Given the description of an element on the screen output the (x, y) to click on. 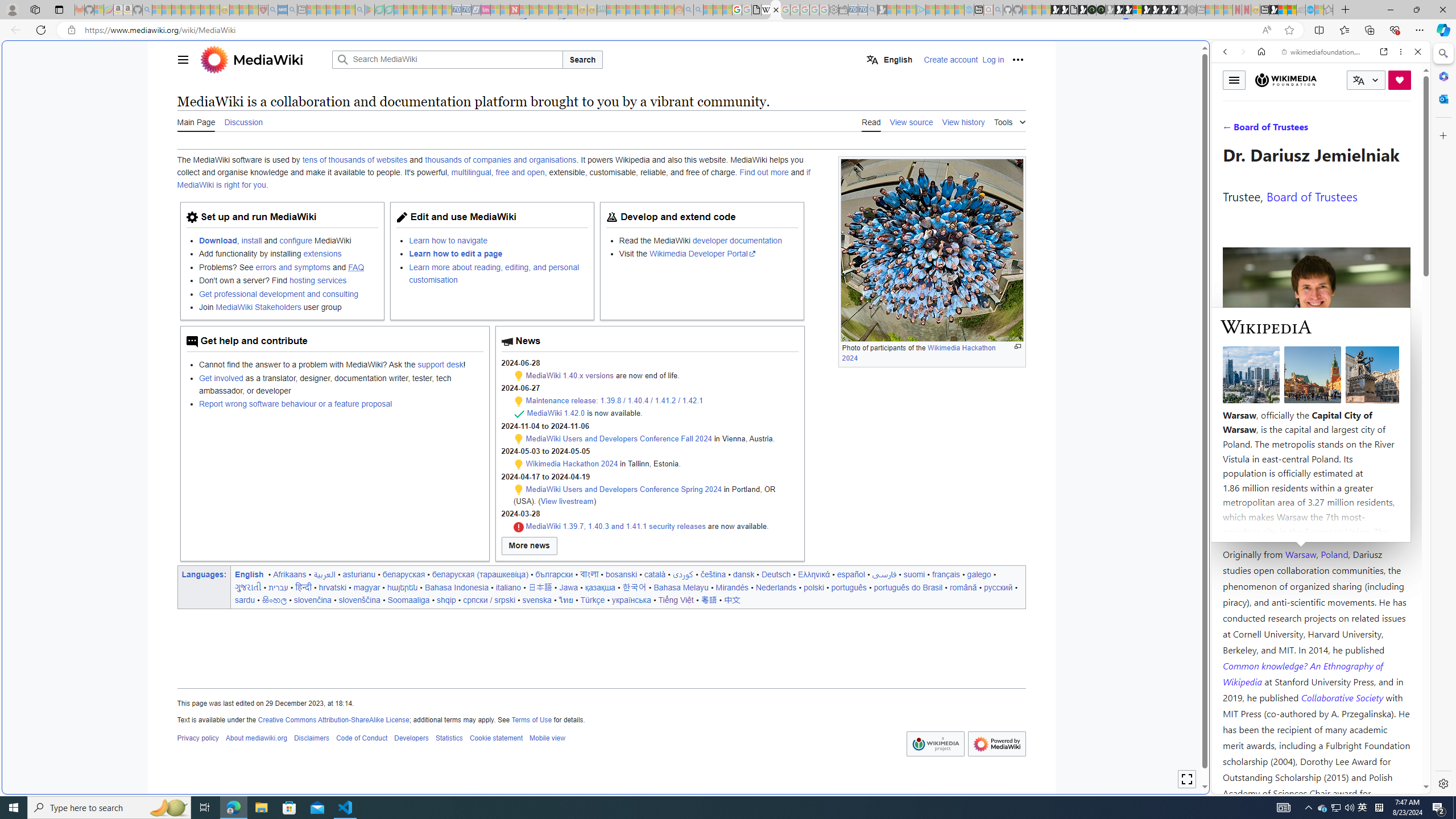
Read the MediaWiki developer documentation (707, 239)
Developers (411, 738)
Class: i icon icon-translate language-switcher__icon (1358, 80)
Main menu (182, 59)
MediaWiki (268, 59)
English (889, 59)
